Given the description of an element on the screen output the (x, y) to click on. 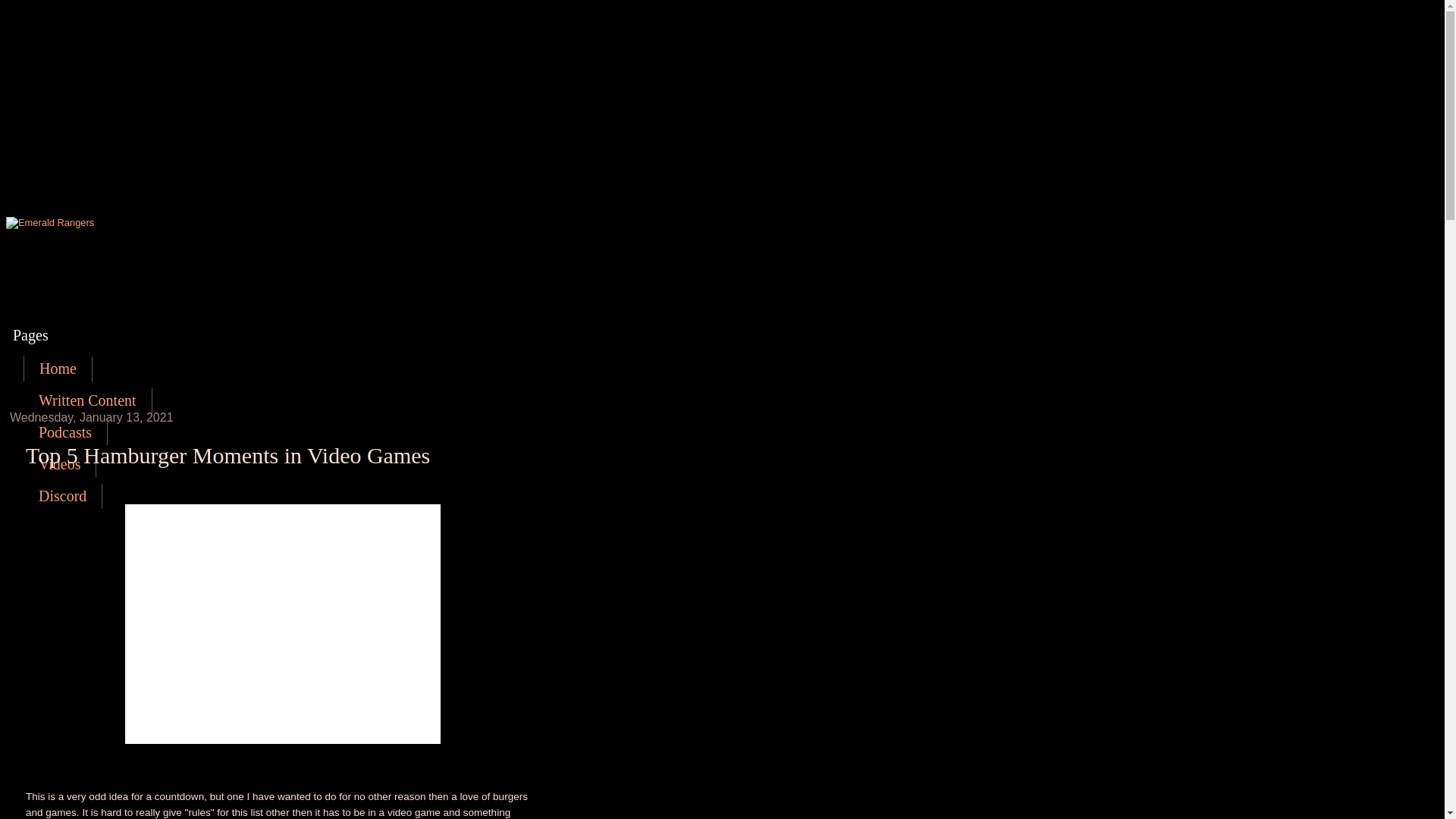
Written Content (87, 400)
Podcasts (65, 432)
Home (58, 368)
Discord (62, 496)
Videos (59, 464)
